Given the description of an element on the screen output the (x, y) to click on. 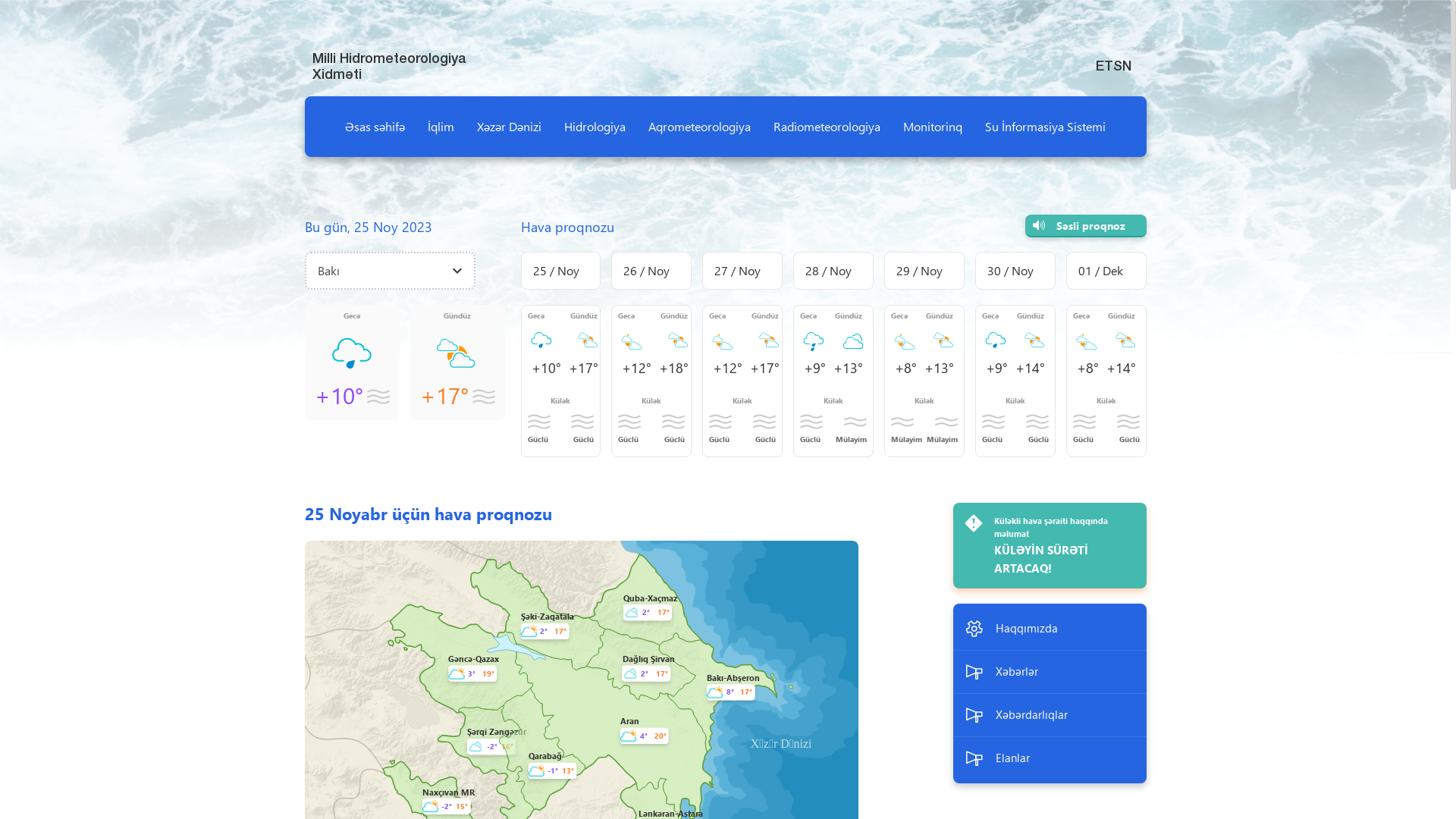
  Element type: text (1144, 19)
Monitorinq Element type: text (932, 126)
Radiometeorologiya Element type: text (826, 126)
Elanlar Element type: text (1049, 758)
Aqrometeorologiya Element type: text (699, 126)
Hidrologiya Element type: text (594, 126)
ETSN Element type: text (1116, 65)
